Given the description of an element on the screen output the (x, y) to click on. 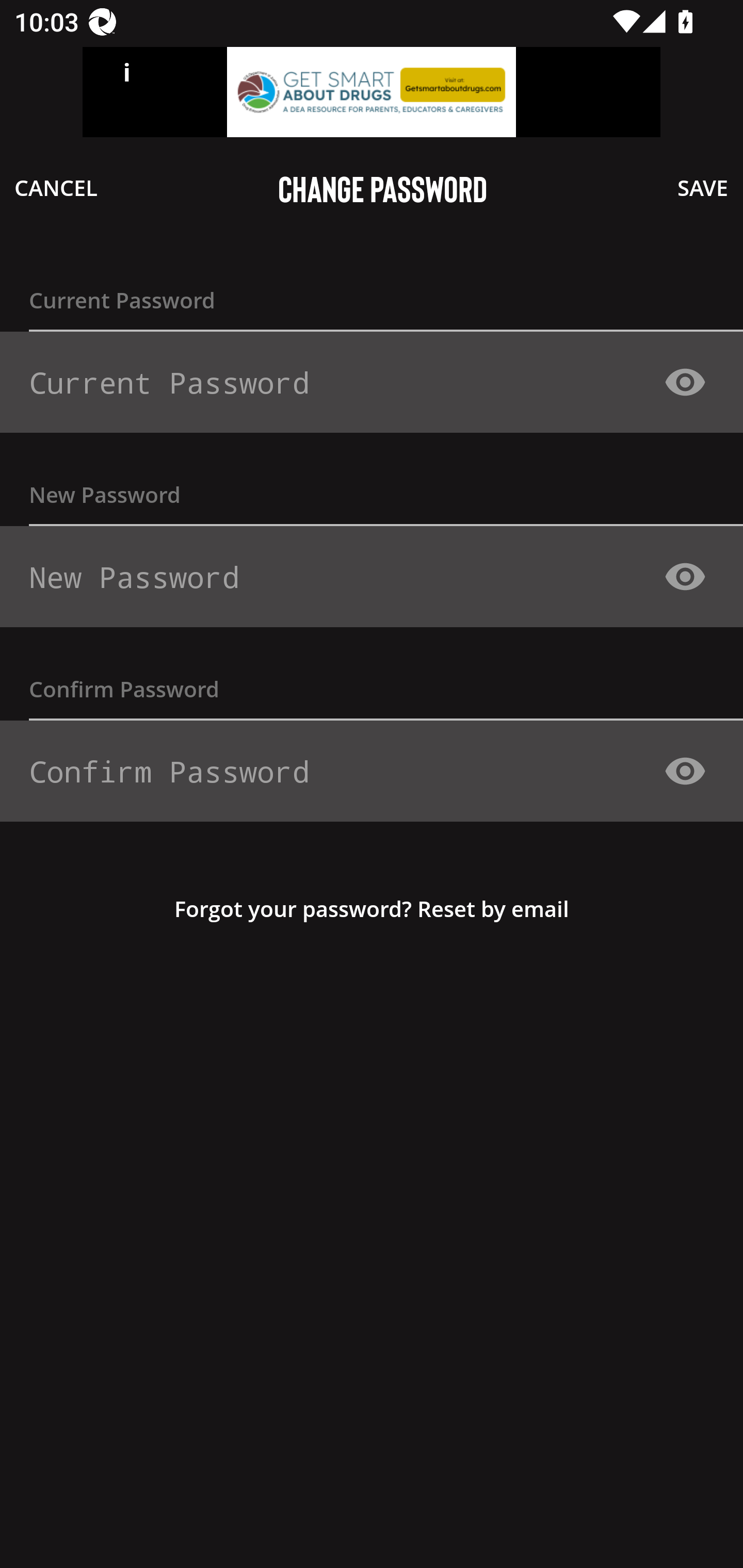
CANCEL (55, 186)
SAVE (702, 186)
Current Password (364, 382)
Show password (684, 381)
New Password (364, 576)
Show password (684, 576)
Confirm Password (364, 771)
Show password (684, 770)
Forgot your password? Reset by email (371, 908)
